Given the description of an element on the screen output the (x, y) to click on. 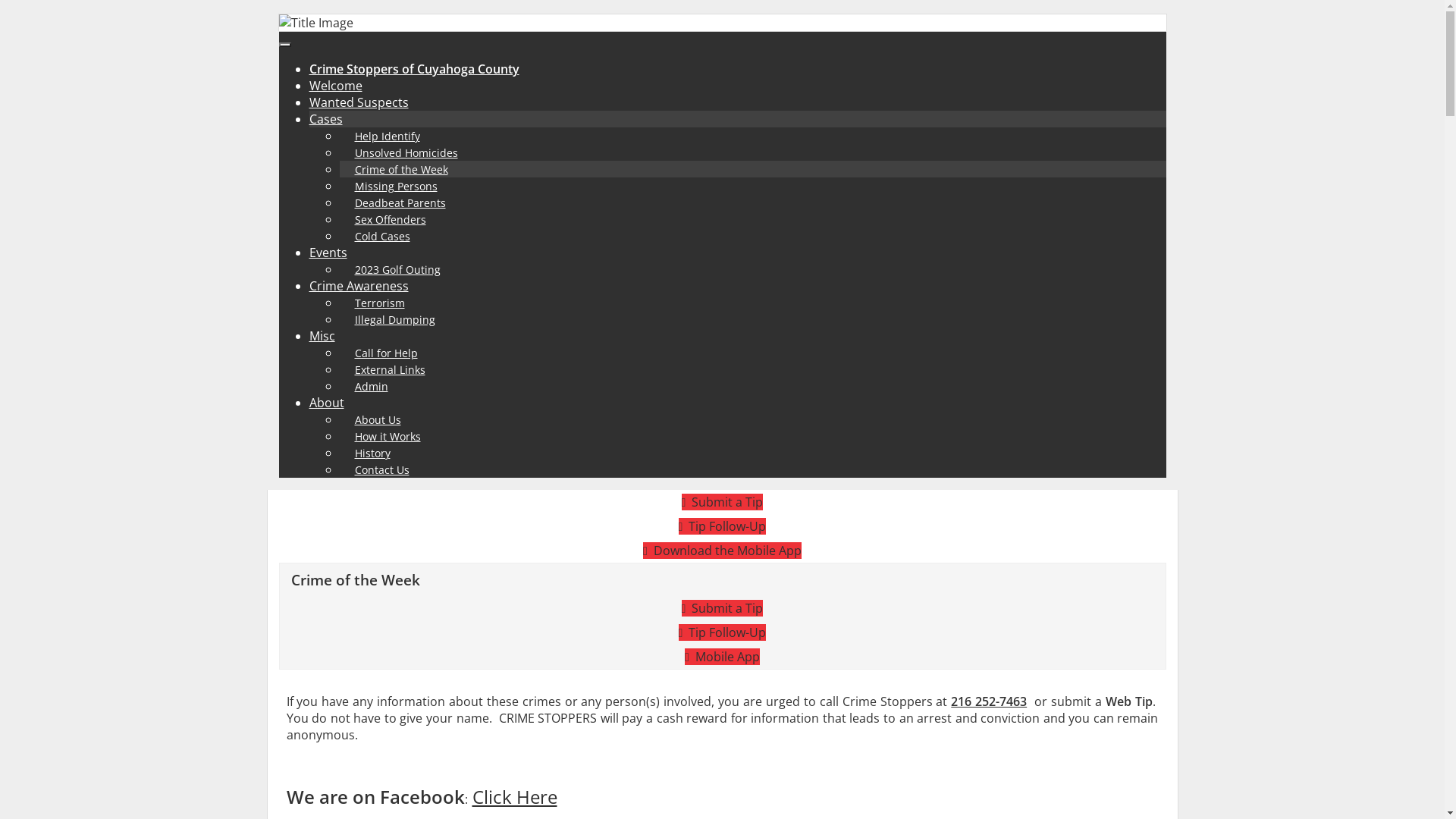
Help Identify Element type: text (387, 135)
About Us Element type: text (377, 419)
Crime Stoppers of Cuyahoga County Element type: text (414, 68)
Cases Element type: text (325, 118)
Sex Offenders Element type: text (390, 219)
216 252-7463 Element type: text (988, 701)
Contact Us Element type: text (381, 469)
Missing Persons Element type: text (395, 185)
About Element type: text (326, 402)
 Submit a Tip Element type: text (722, 607)
How it Works Element type: text (387, 435)
Call for Help Element type: text (386, 352)
Welcome Element type: text (335, 85)
Admin Element type: text (371, 385)
Illegal Dumping Element type: text (394, 319)
Terrorism Element type: text (379, 302)
Click Here Element type: text (513, 796)
 Download the Mobile App Element type: text (722, 550)
 Submit a Tip Element type: text (722, 501)
2023 Golf Outing Element type: text (397, 269)
History Element type: text (372, 452)
Unsolved Homicides Element type: text (406, 152)
 Tip Follow-Up Element type: text (722, 632)
Crime of the Week Element type: text (401, 169)
 Tip Follow-Up Element type: text (722, 525)
Misc Element type: text (322, 335)
 Mobile App Element type: text (721, 656)
Wanted Suspects Element type: text (358, 102)
Cold Cases Element type: text (382, 235)
Crime Awareness Element type: text (358, 285)
Deadbeat Parents Element type: text (400, 202)
Events Element type: text (328, 252)
External Links Element type: text (389, 369)
